Given the description of an element on the screen output the (x, y) to click on. 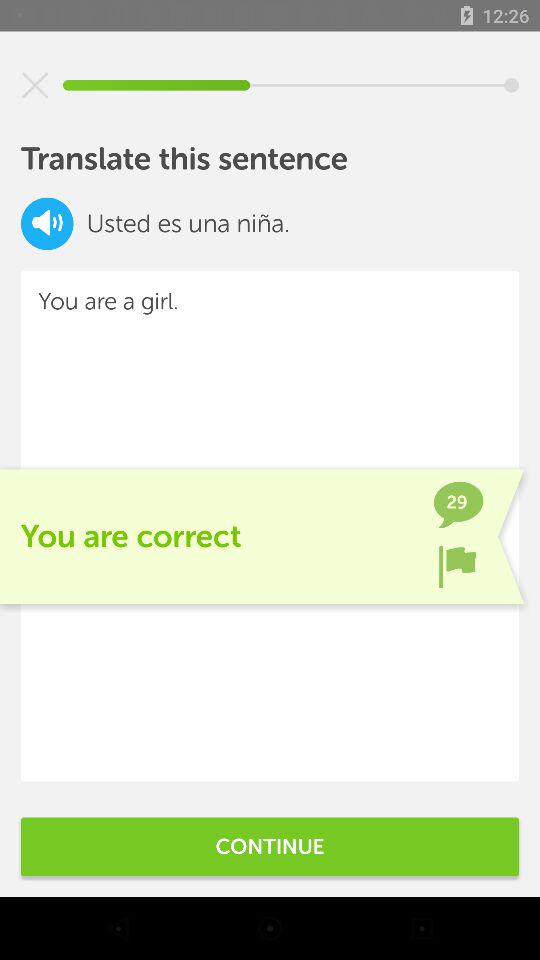
click on the flag icon which is next to you are correct (457, 566)
